Given the description of an element on the screen output the (x, y) to click on. 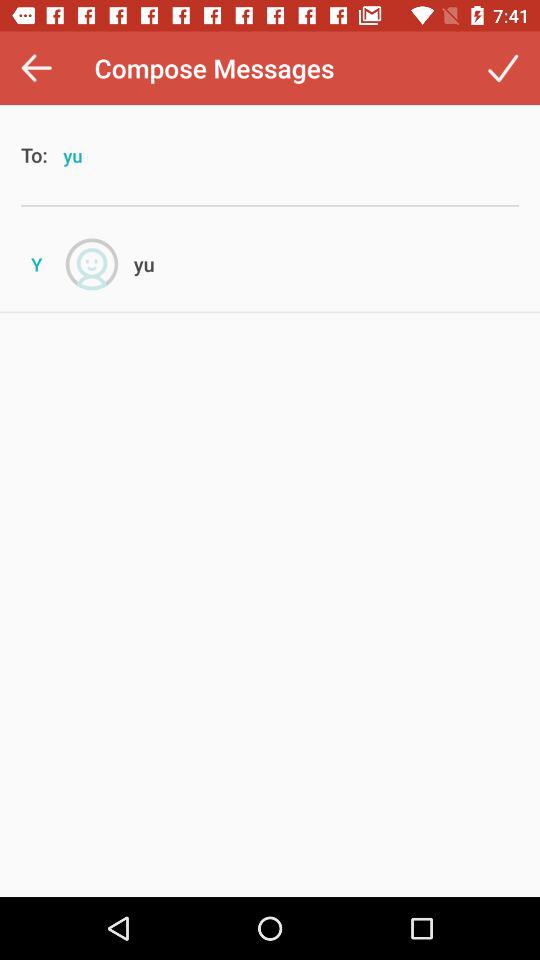
select the item next to the compose messages item (502, 67)
